Given the description of an element on the screen output the (x, y) to click on. 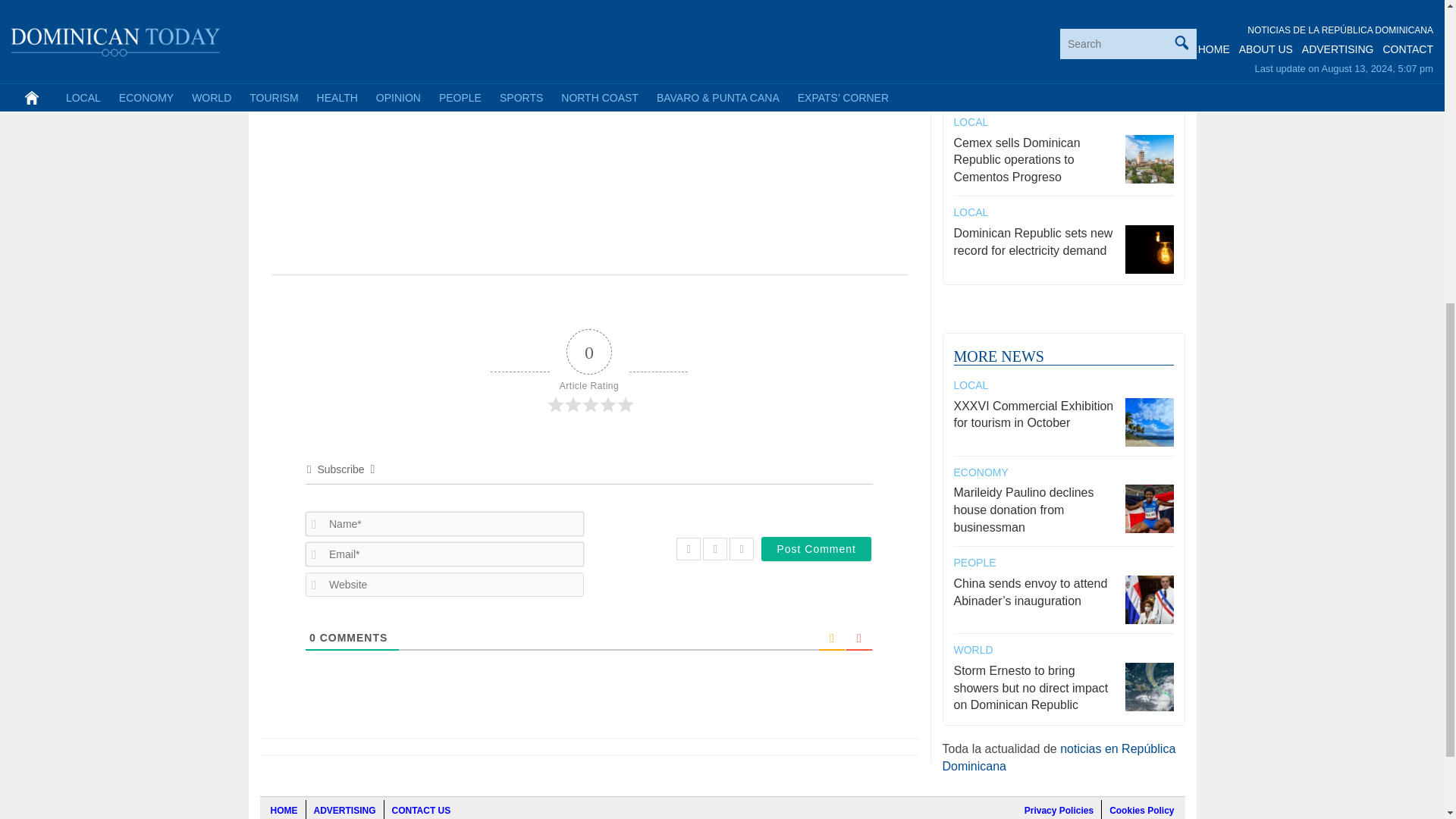
Post Comment (815, 549)
Post Comment (815, 549)
